Given the description of an element on the screen output the (x, y) to click on. 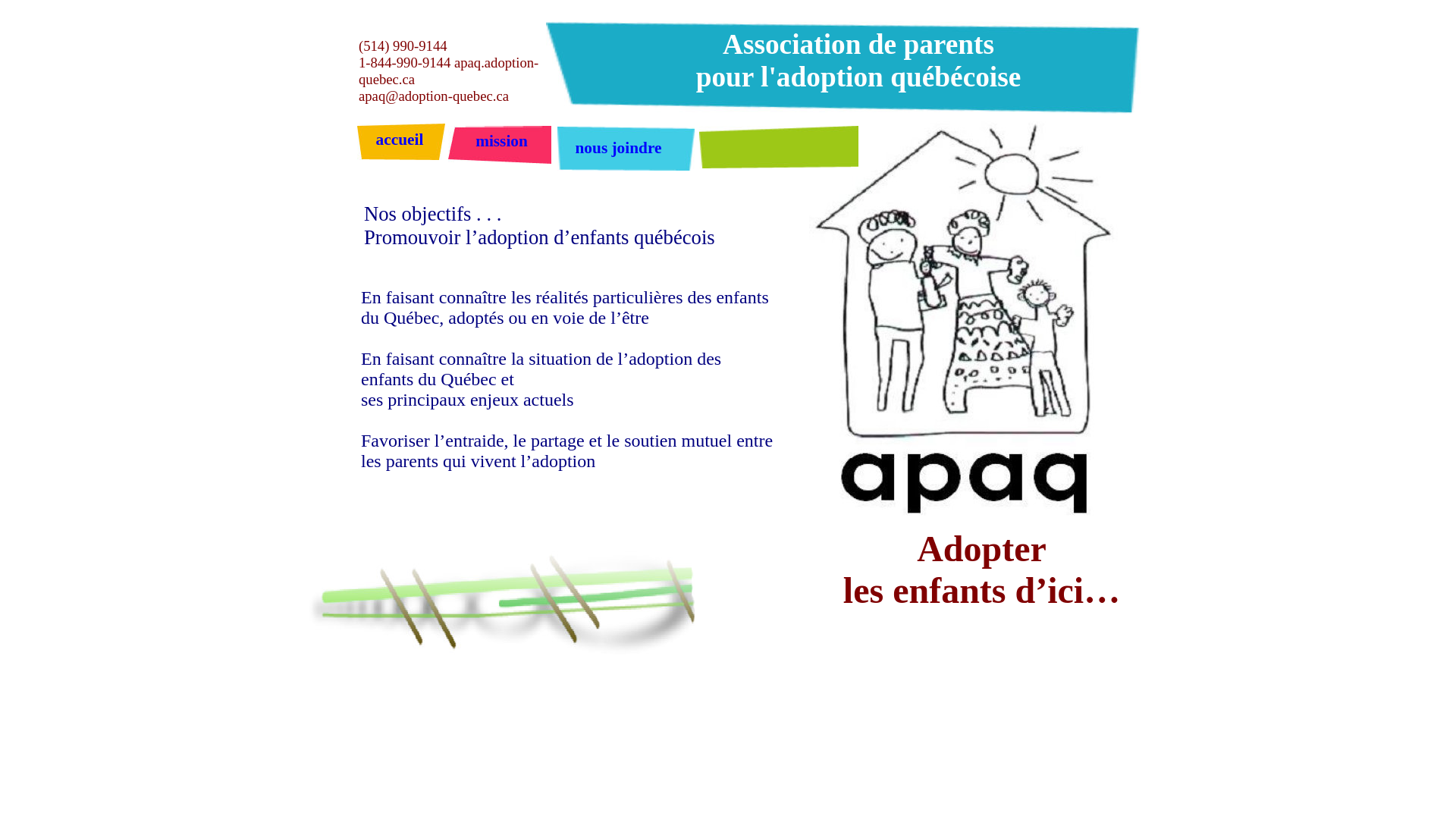
mission Element type: text (501, 140)
nous joindre Element type: text (617, 147)
accueil Element type: text (399, 139)
